Given the description of an element on the screen output the (x, y) to click on. 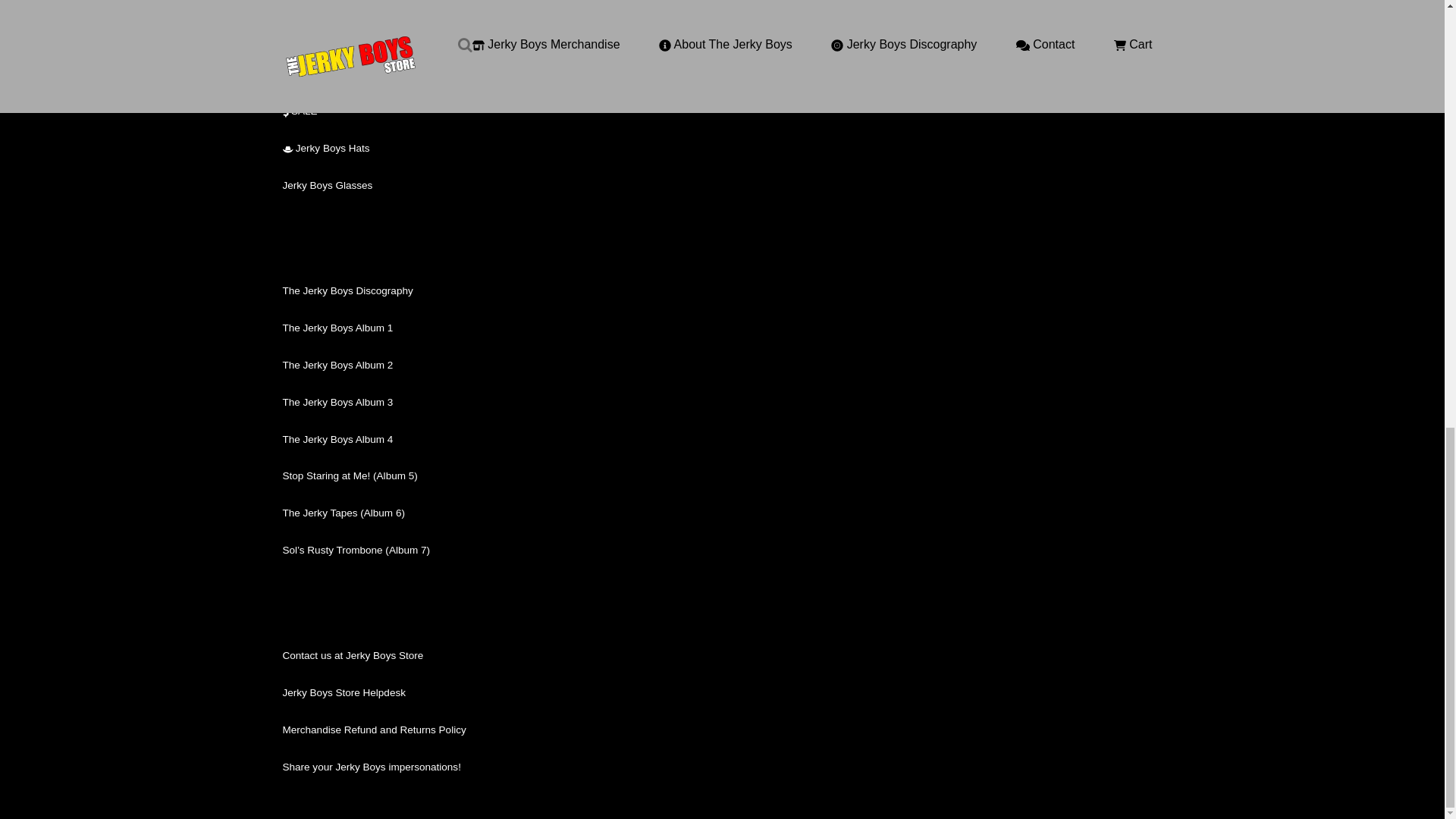
Jerky Boys Merchandise (337, 37)
